Given the description of an element on the screen output the (x, y) to click on. 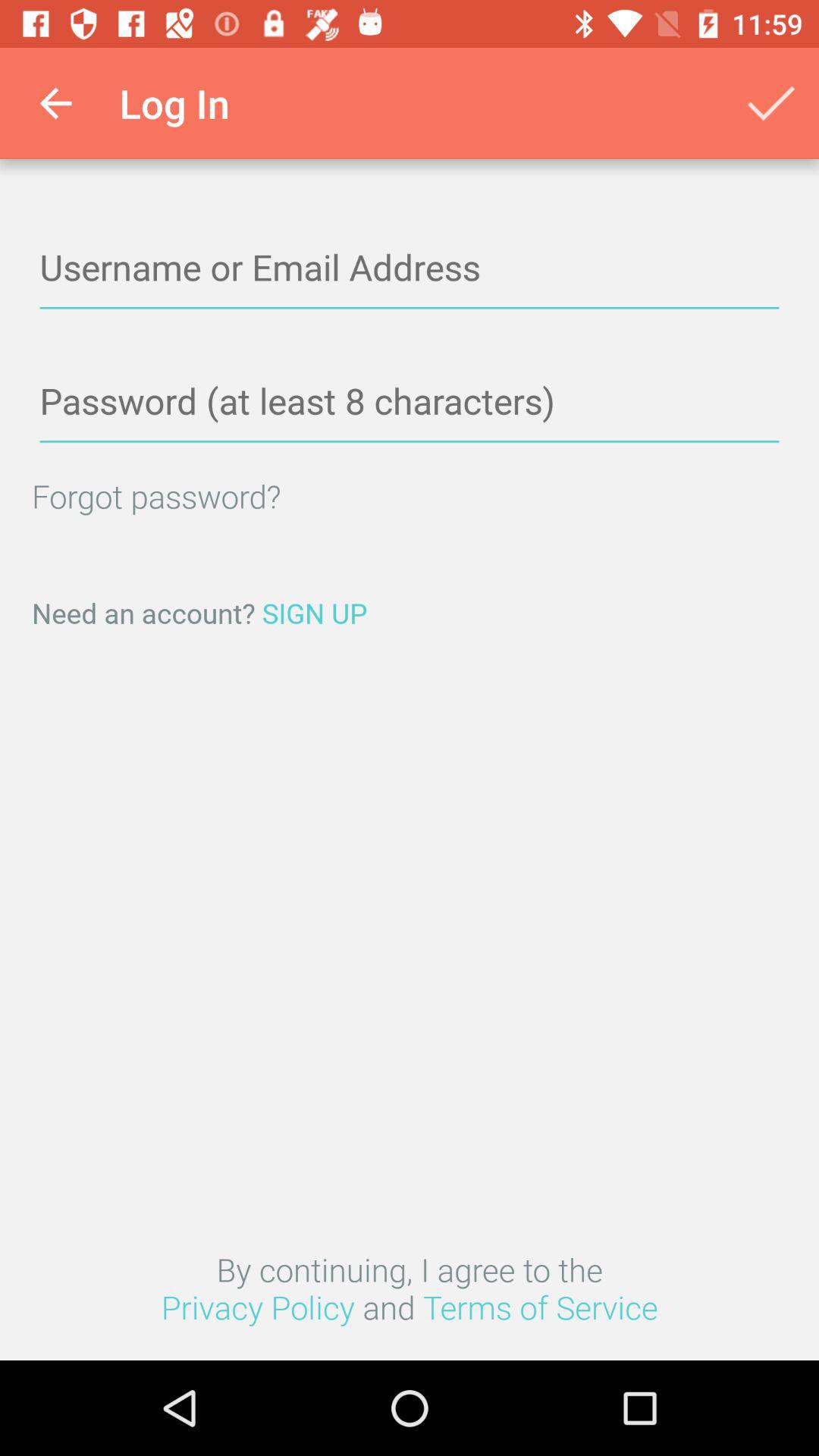
enter password with a least 8 characters (409, 402)
